Given the description of an element on the screen output the (x, y) to click on. 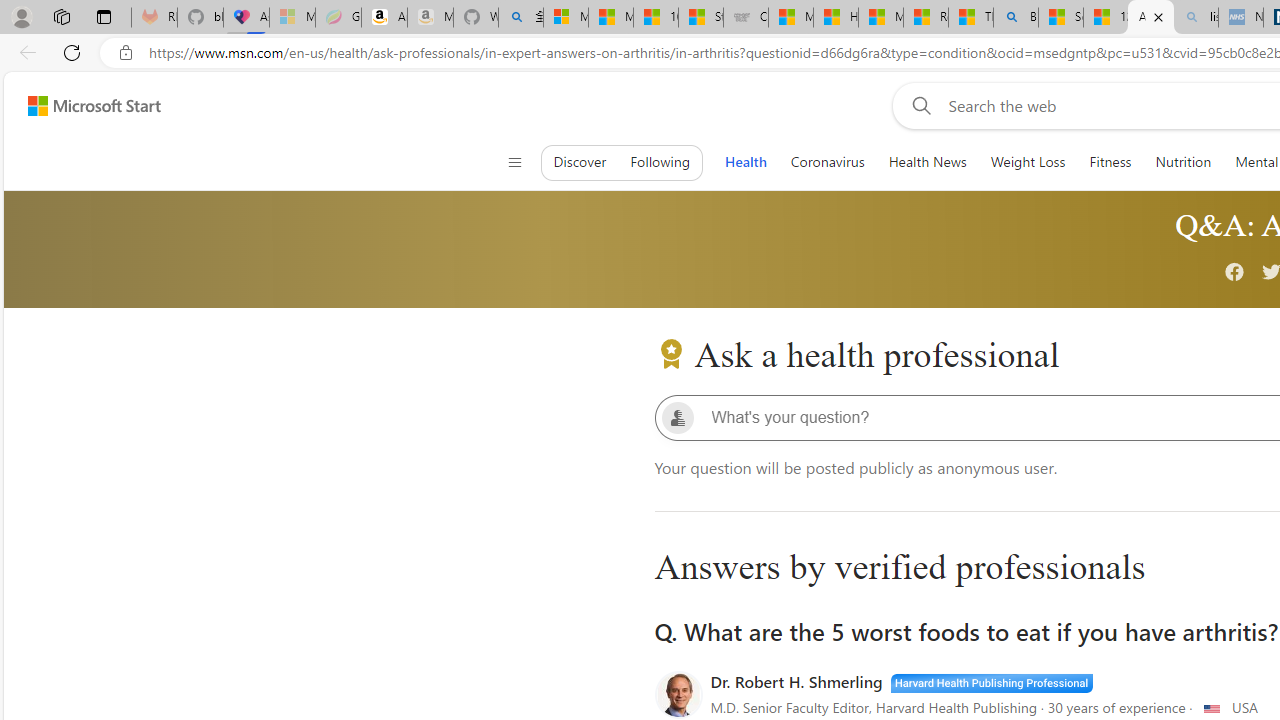
Bing (1016, 17)
Fitness (1110, 161)
Recipes - MSN (925, 17)
Weight Loss (1027, 162)
Class: control icon-only (514, 162)
